Given the description of an element on the screen output the (x, y) to click on. 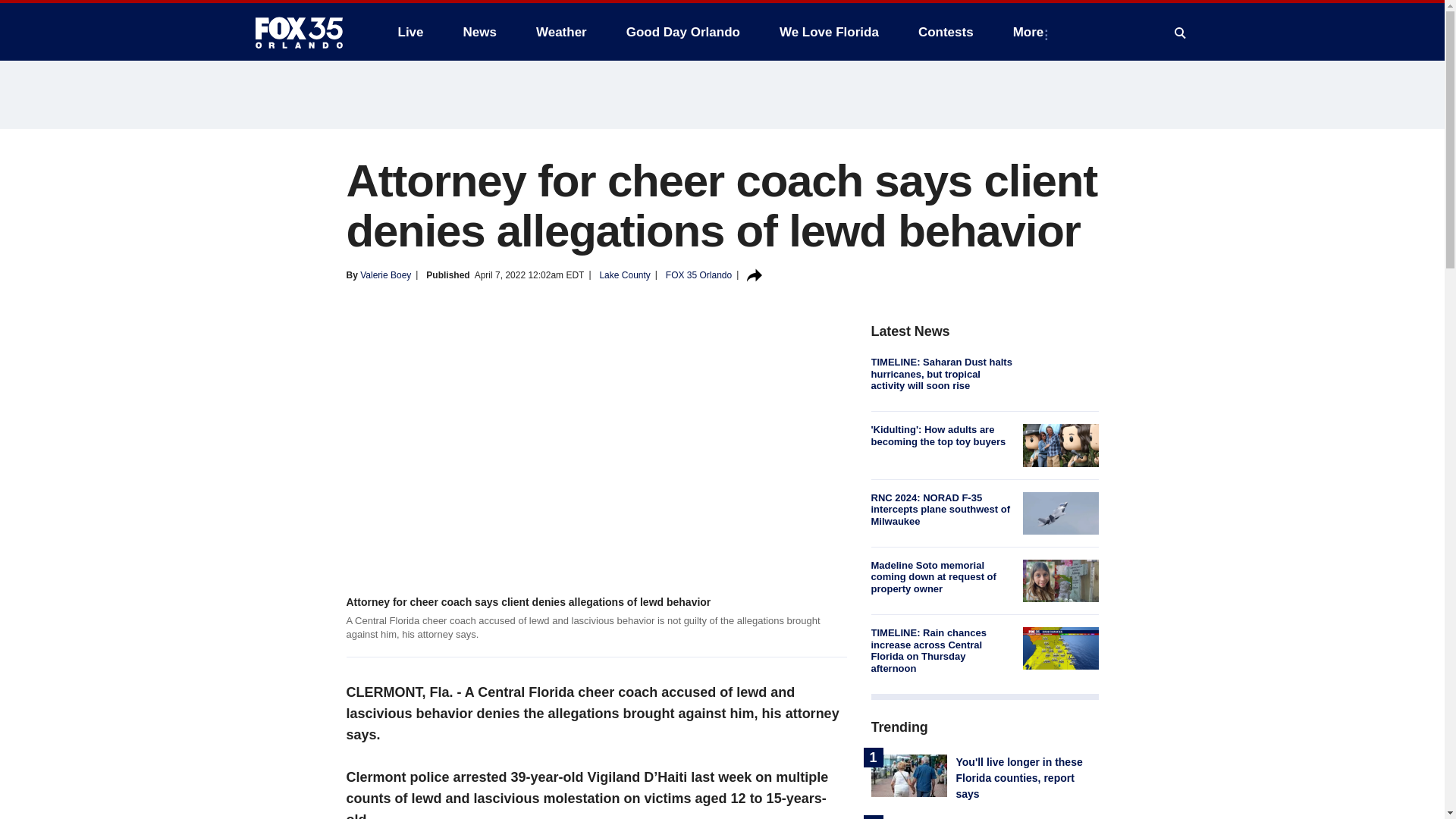
Weather (561, 32)
Contests (945, 32)
Live (410, 32)
More (1031, 32)
Good Day Orlando (683, 32)
News (479, 32)
We Love Florida (829, 32)
